Given the description of an element on the screen output the (x, y) to click on. 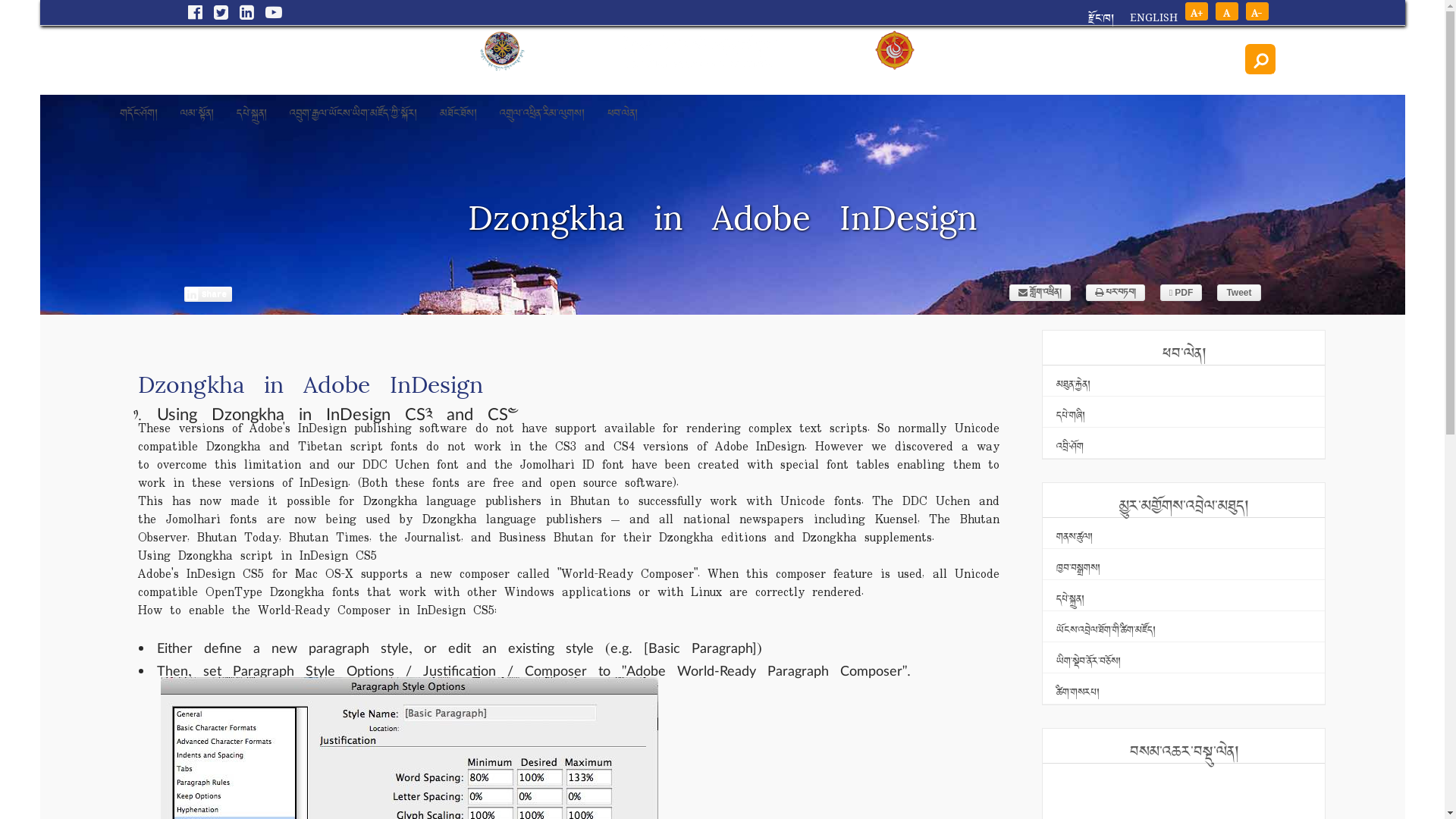
Share Element type: text (207, 293)
Tweet Element type: text (1238, 292)
A Element type: text (1225, 11)
Find us on Youtube Element type: hover (267, 12)
Find us on Linkedin Element type: hover (240, 12)
ENGLISH Element type: text (1144, 16)
A- Element type: text (1256, 11)
A+ Element type: text (1195, 11)
PDF Element type: text (1181, 292)
Follow us on Facebook Element type: hover (188, 12)
Follow us on twitter Element type: hover (214, 12)
